Given the description of an element on the screen output the (x, y) to click on. 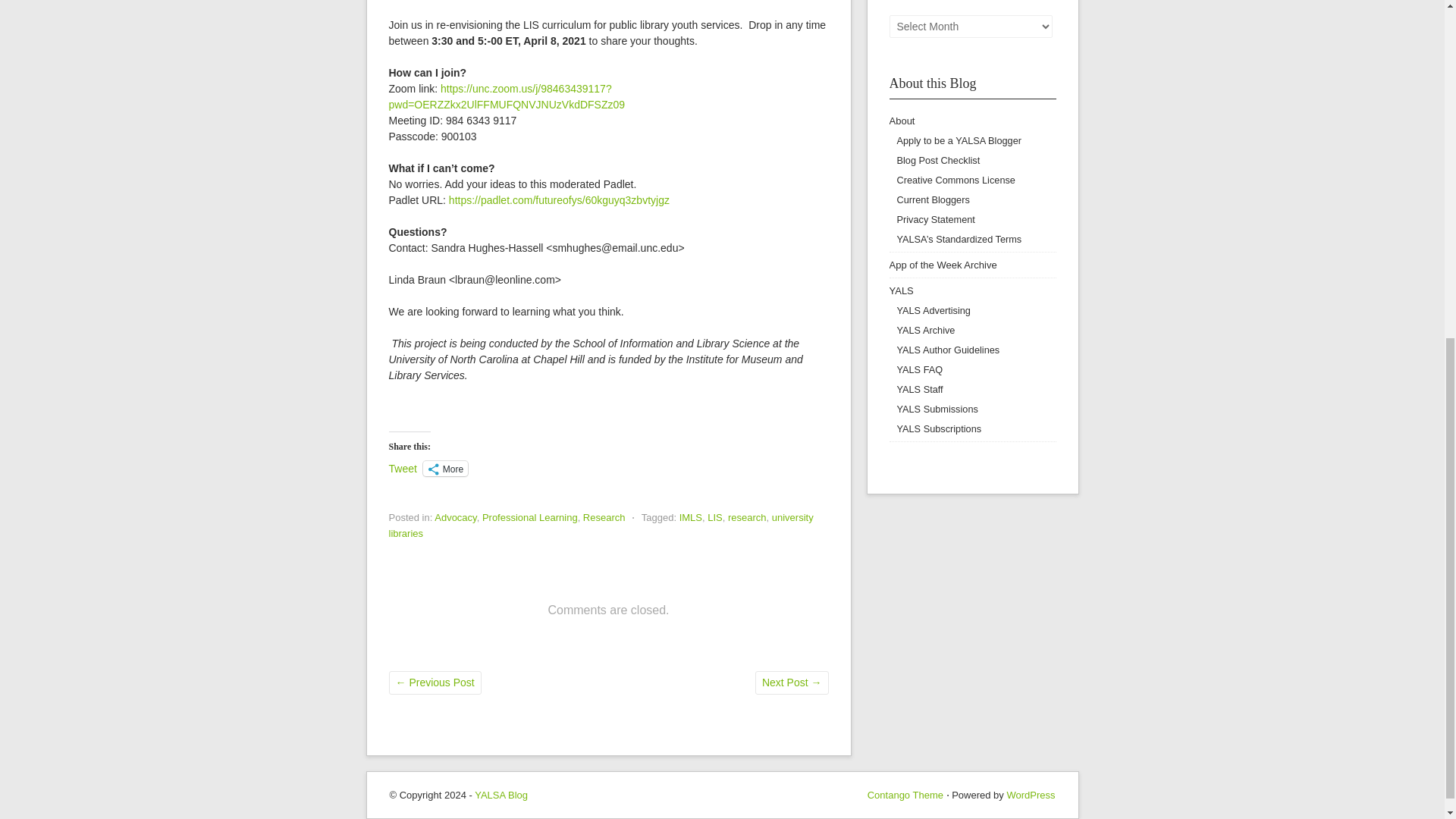
Research (604, 517)
WordPress (1030, 794)
More (445, 468)
Contango Theme (905, 794)
Tweet (402, 468)
research (747, 517)
university libraries (600, 524)
LIS (714, 517)
IMLS (690, 517)
Advocacy (454, 517)
